Given the description of an element on the screen output the (x, y) to click on. 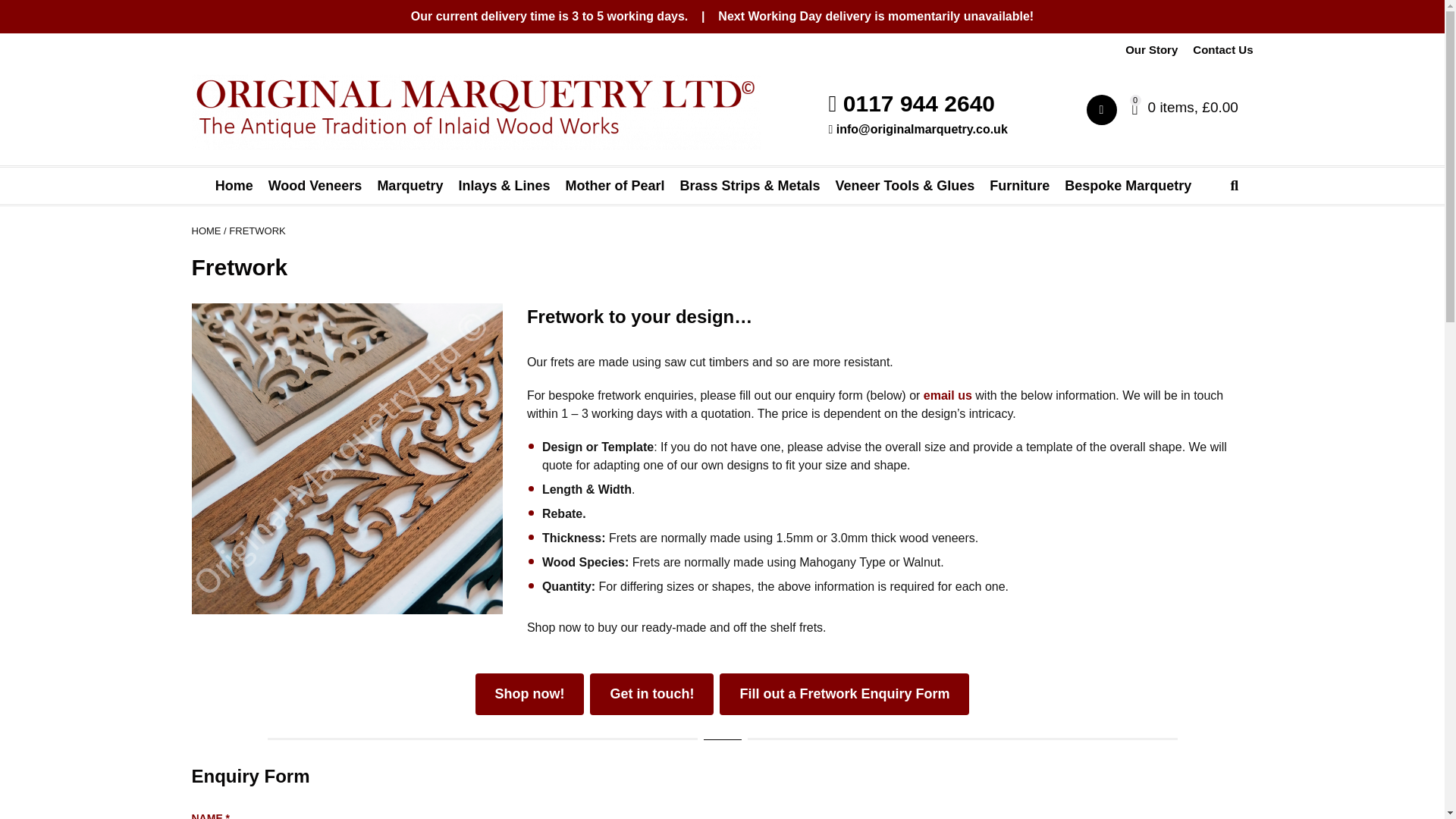
Home (234, 185)
Original Marquetry Ltd (475, 111)
Our Story (1151, 49)
My Account (1108, 111)
Search (1413, 232)
Wood Veneers (314, 185)
Marquetry (409, 185)
Contact Us (1222, 49)
0117 944 2640 (911, 103)
